Given the description of an element on the screen output the (x, y) to click on. 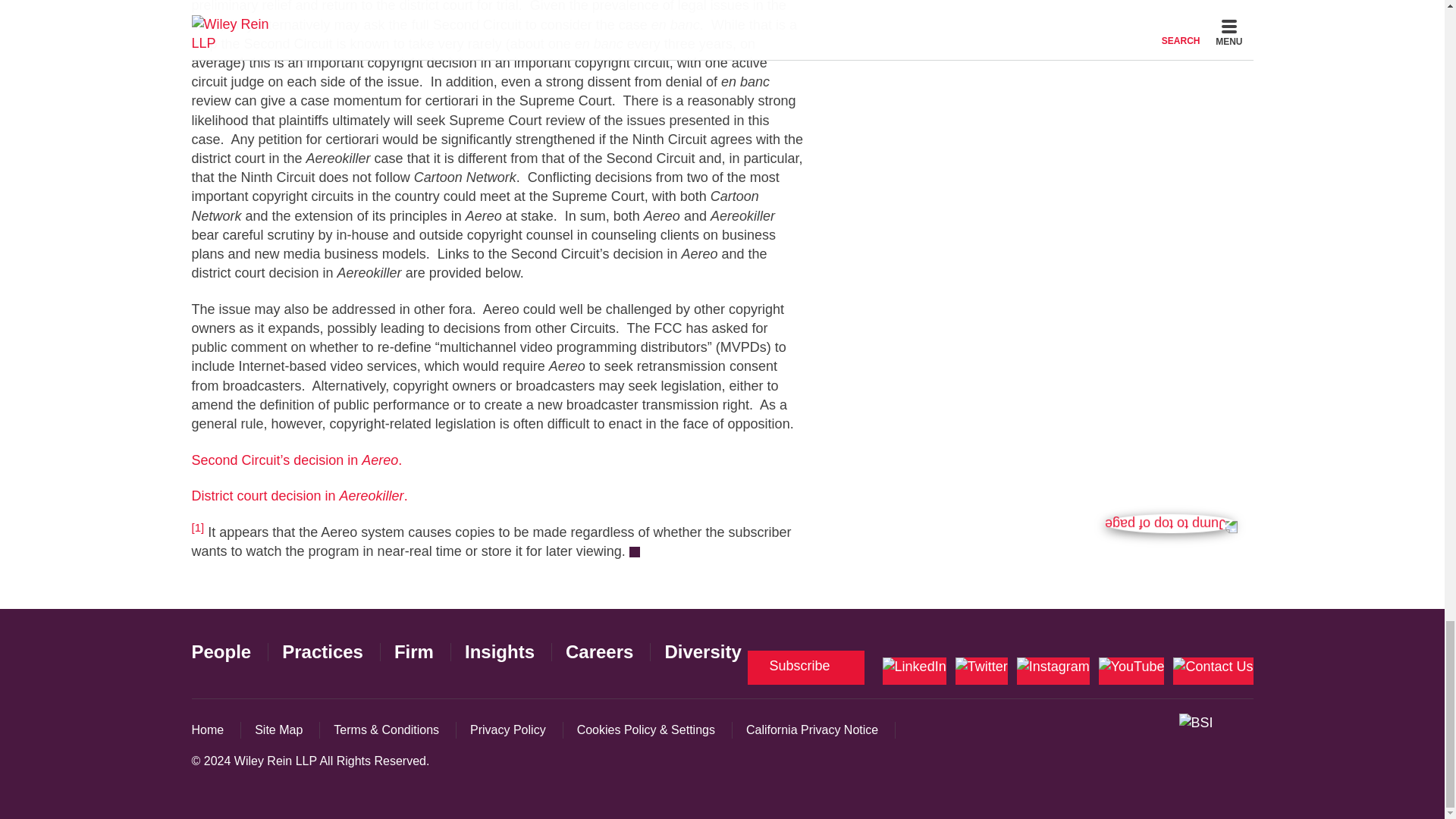
Contact Us (1212, 670)
